Given the description of an element on the screen output the (x, y) to click on. 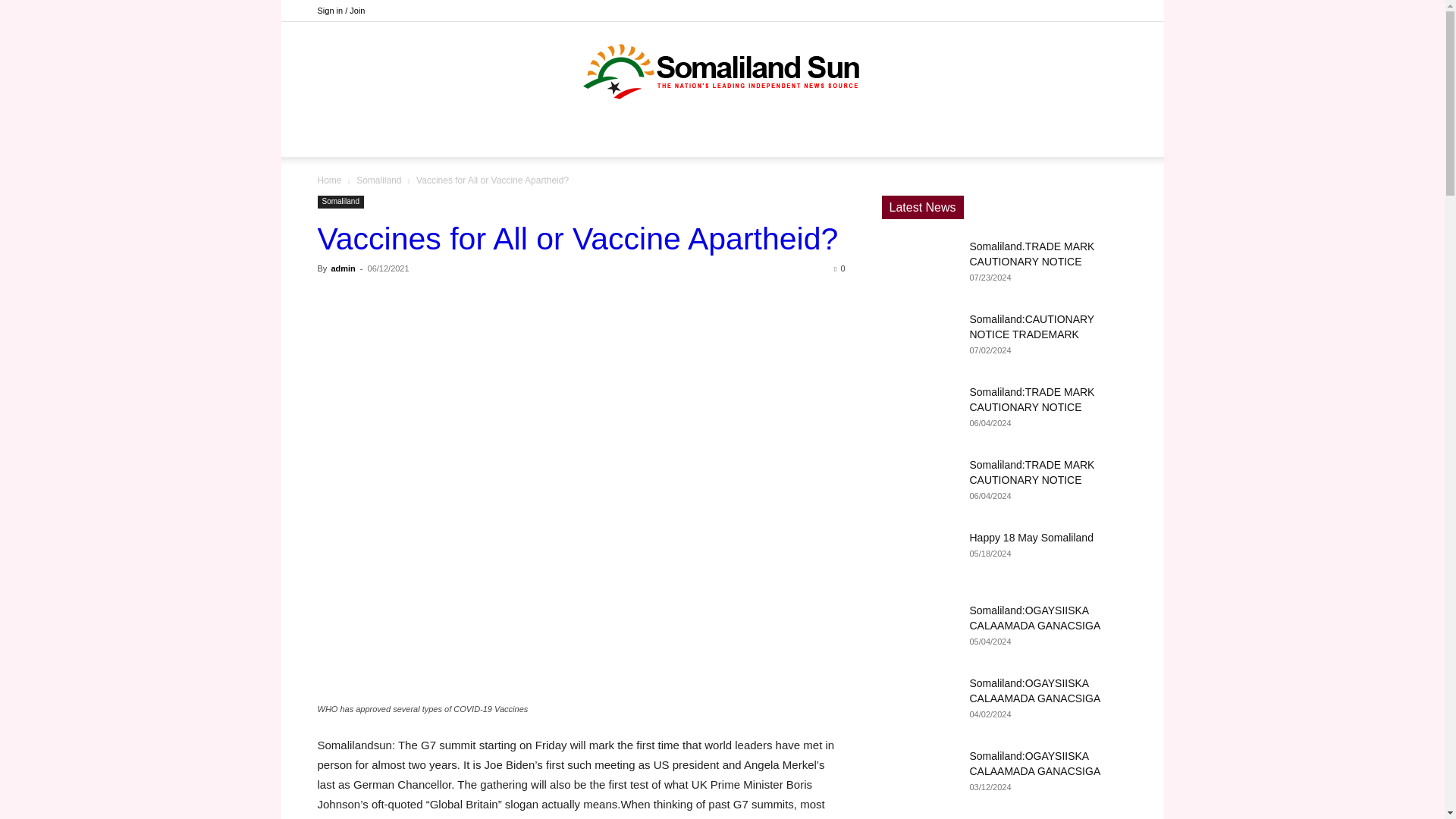
DONOR NEWS (556, 138)
HOME (481, 138)
NEWS (631, 138)
Somaliland Sun (722, 71)
